Given the description of an element on the screen output the (x, y) to click on. 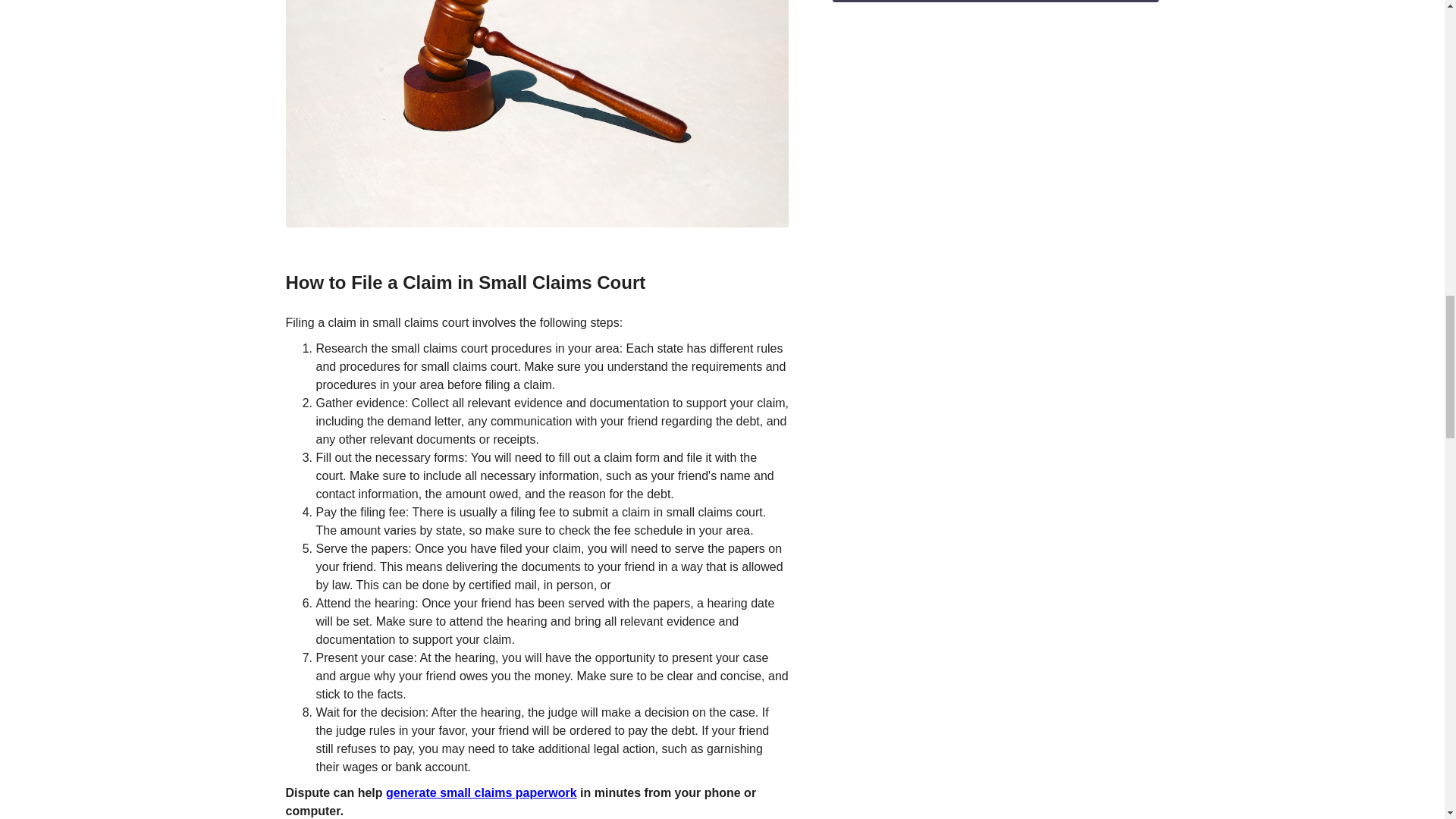
generate small claims paperwork (480, 792)
